Given the description of an element on the screen output the (x, y) to click on. 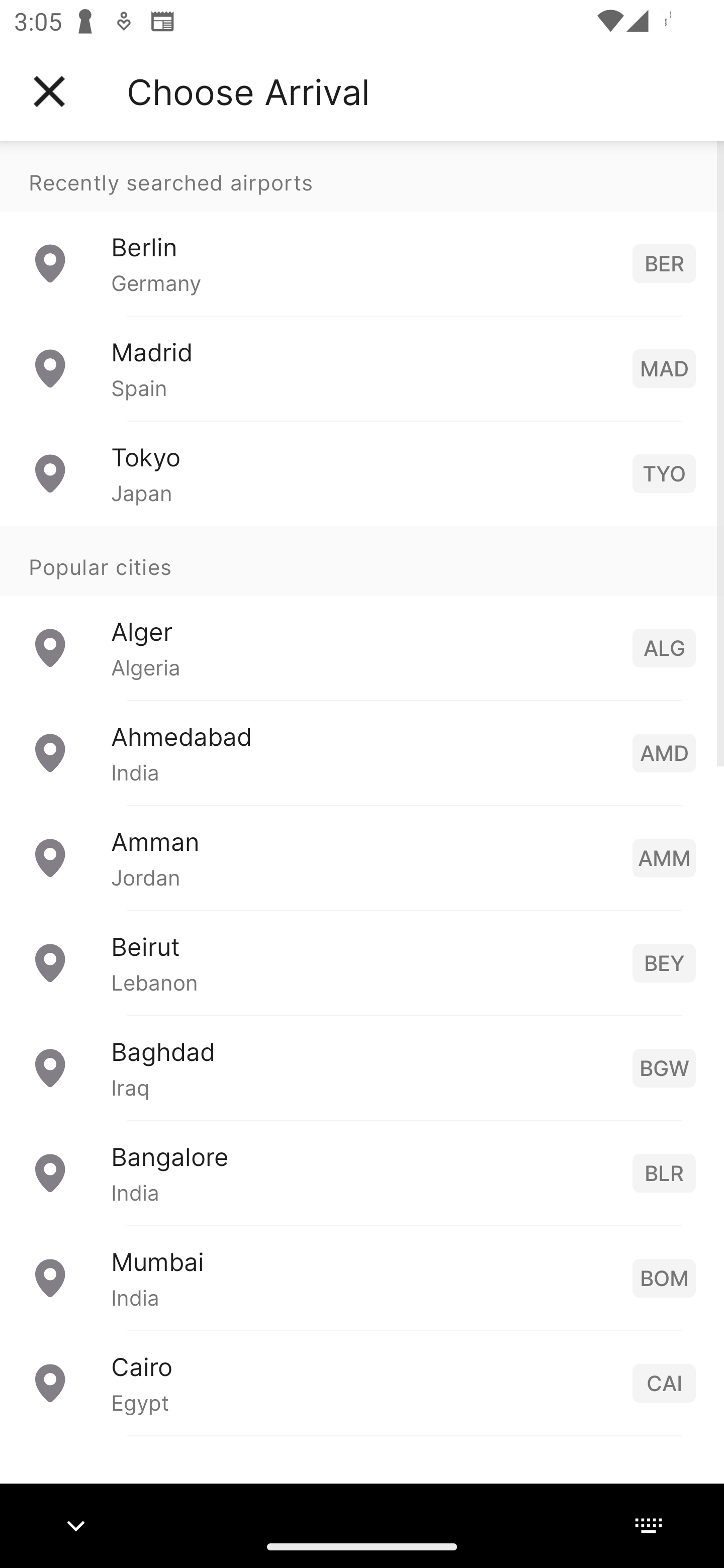
Choose Arrival (247, 91)
Recently searched airports Berlin Germany BER (362, 228)
Recently searched airports (362, 176)
Madrid Spain MAD (362, 367)
Tokyo Japan TYO (362, 472)
Popular cities Alger Algeria ALG (362, 612)
Popular cities (362, 560)
Ahmedabad India AMD (362, 751)
Amman Jordan AMM (362, 856)
Beirut Lebanon BEY (362, 961)
Baghdad Iraq BGW (362, 1066)
Bangalore India BLR (362, 1171)
Mumbai India BOM (362, 1276)
Cairo Egypt CAI (362, 1381)
